Given the description of an element on the screen output the (x, y) to click on. 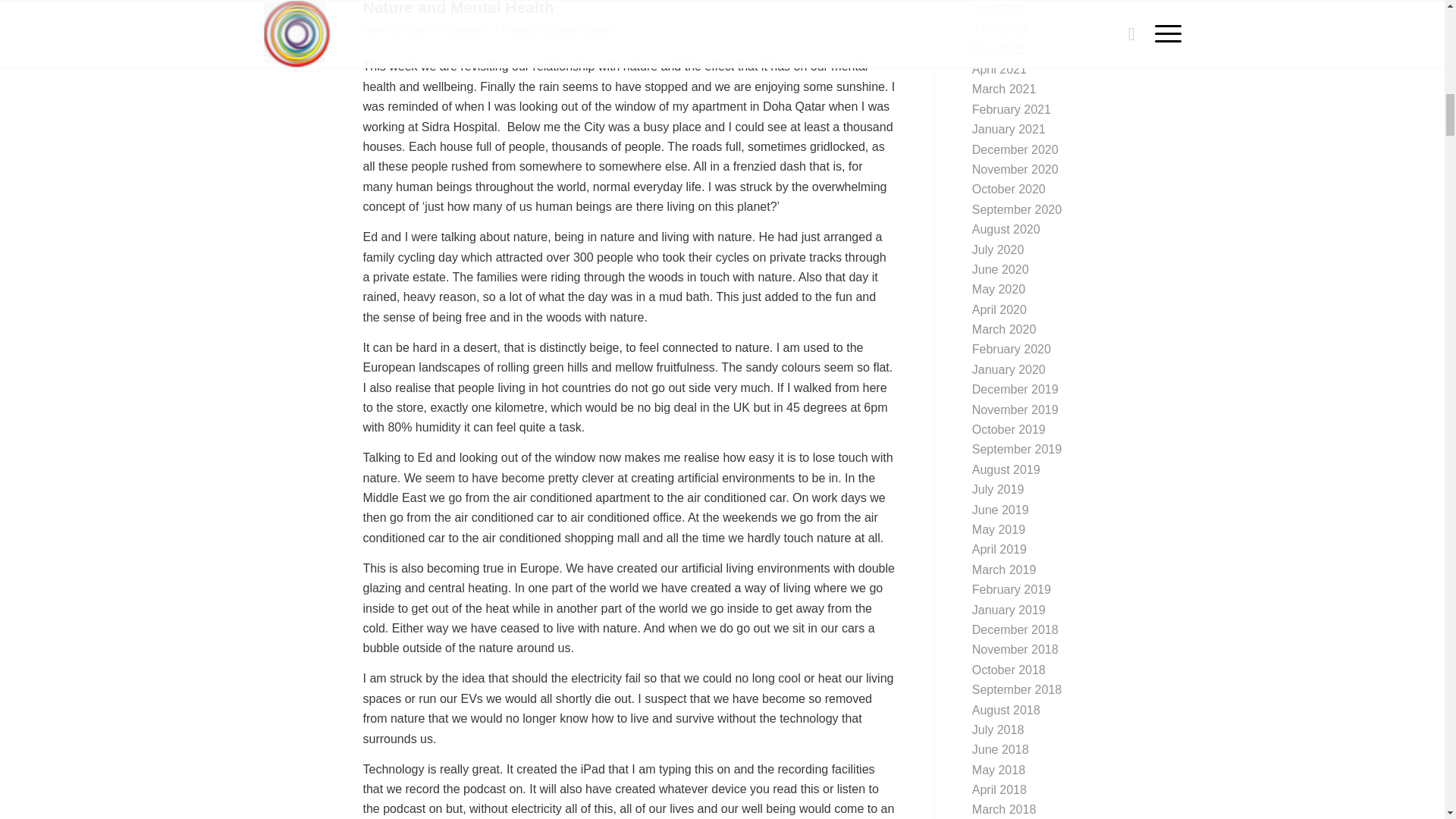
Sean Orford (585, 30)
0 Comments (463, 30)
Blog (522, 30)
Nature and Mental Health  (459, 7)
Posts by Sean Orford (585, 30)
